Given the description of an element on the screen output the (x, y) to click on. 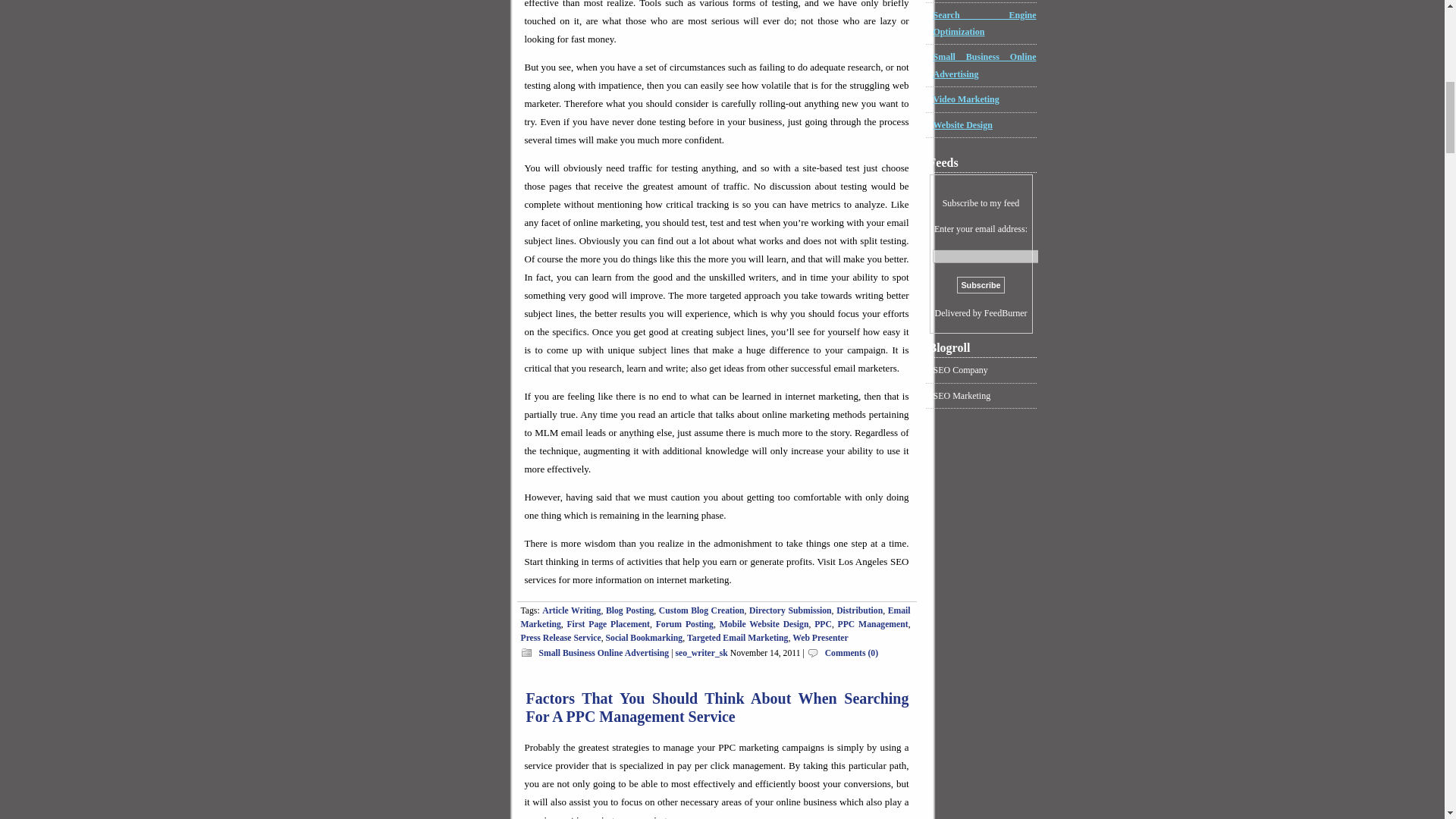
Mobile Website Design (764, 624)
Article Writing (570, 610)
Blog Posting (629, 610)
Small Business Online Advertising (603, 653)
Targeted Email Marketing (737, 637)
Forum Posting (684, 624)
Email Marketing (714, 617)
Subscribe (980, 284)
Web Presenter (819, 637)
